Given the description of an element on the screen output the (x, y) to click on. 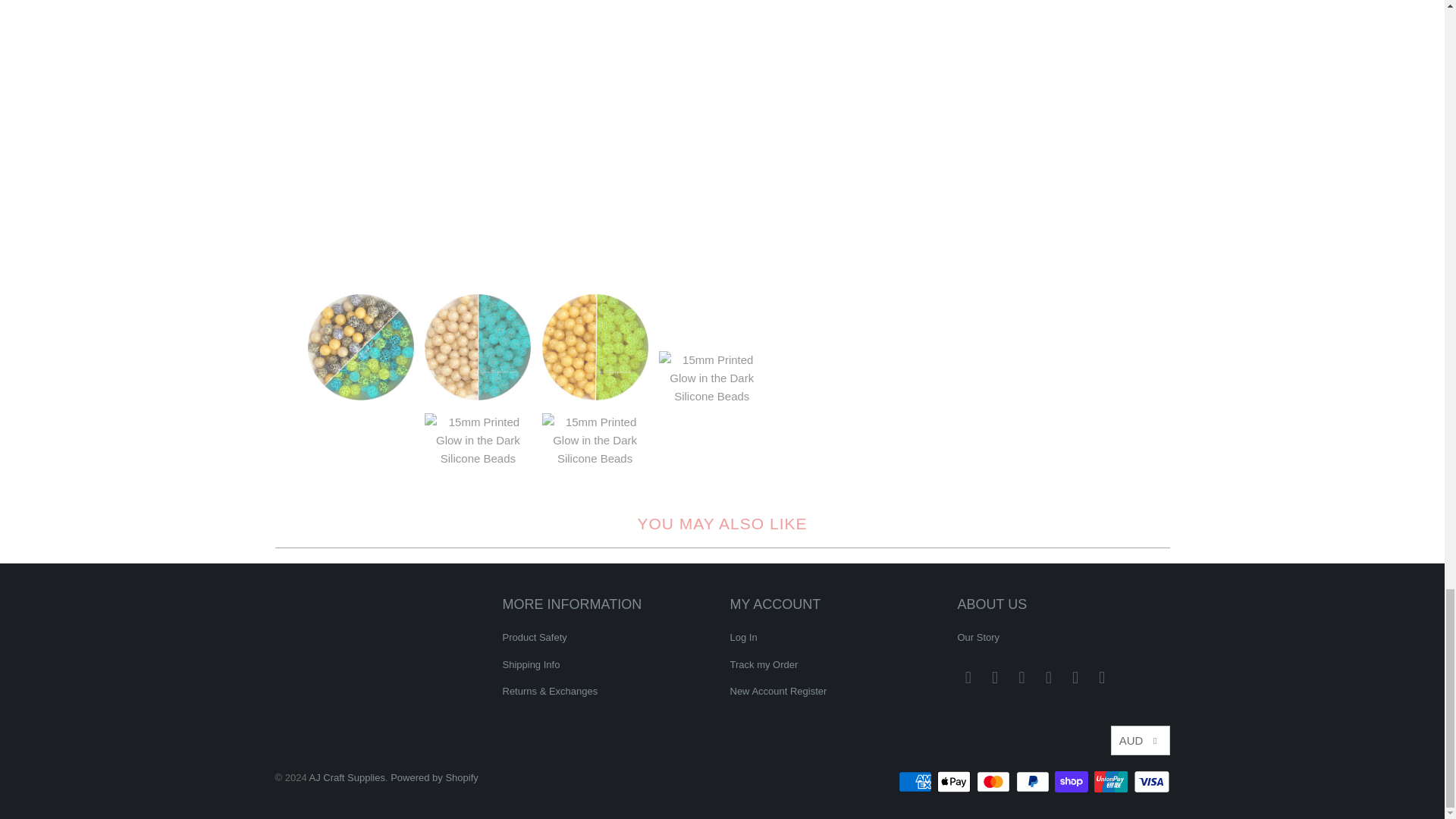
Visa (1150, 781)
Shop Pay (1072, 781)
PayPal (1034, 781)
Apple Pay (955, 781)
American Express (916, 781)
Mastercard (994, 781)
Union Pay (1112, 781)
